Given the description of an element on the screen output the (x, y) to click on. 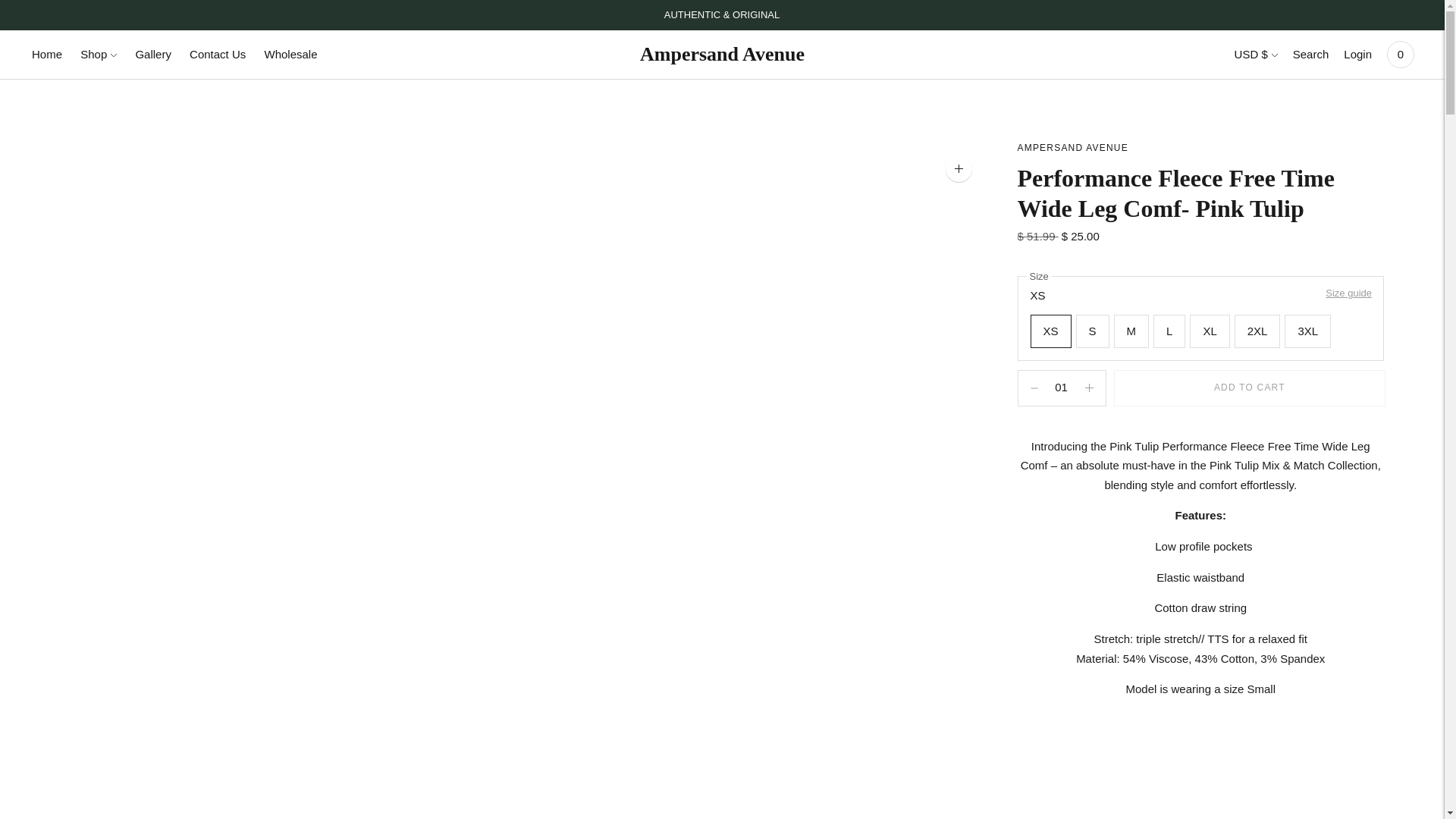
Wholesale (290, 54)
Ampersand Avenue (1072, 147)
Home (47, 54)
01 (1061, 387)
Contact Us (217, 54)
Gallery (153, 54)
Shop (98, 54)
